Given the description of an element on the screen output the (x, y) to click on. 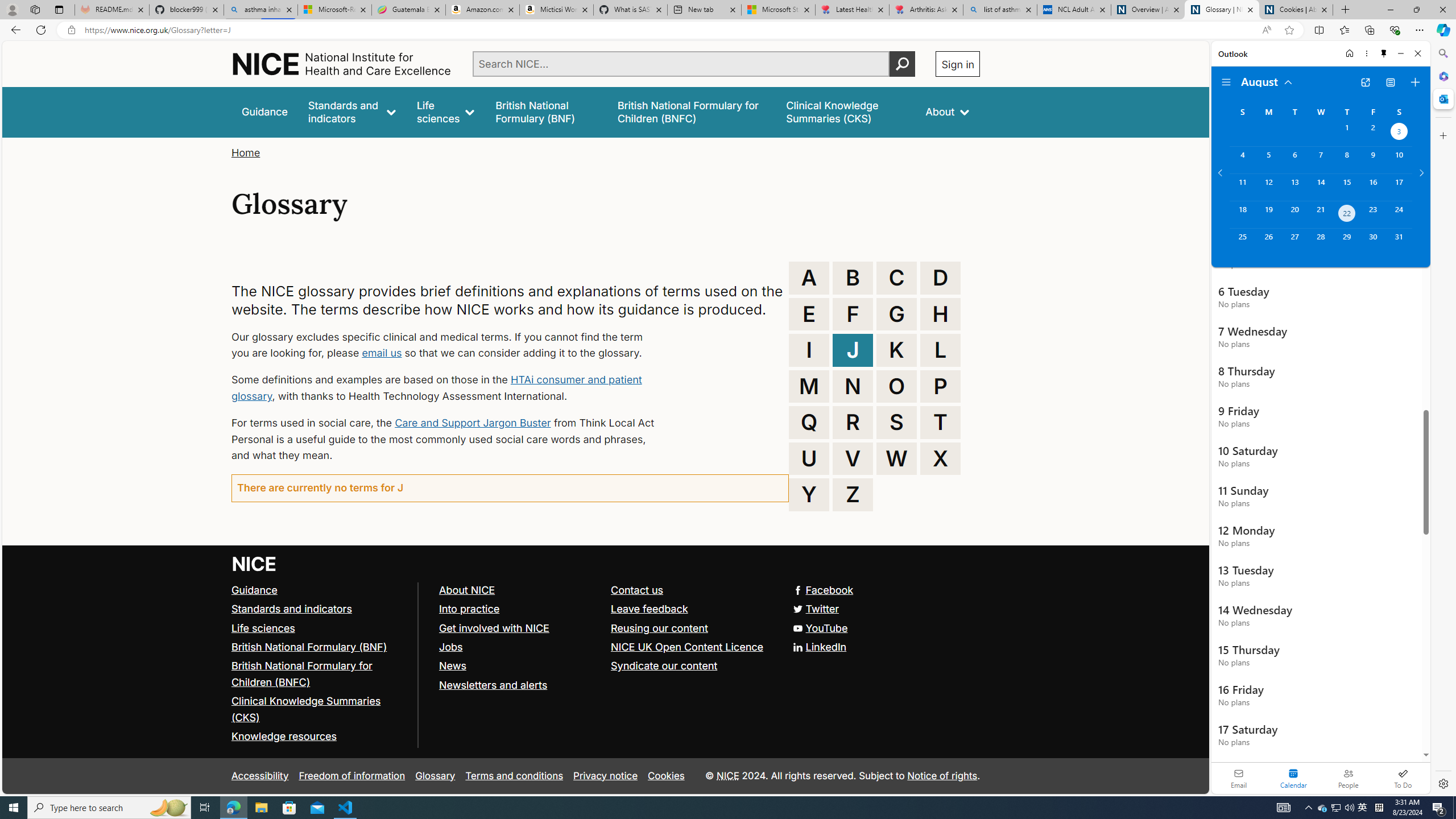
Friday, August 23, 2024.  (1372, 214)
Thursday, August 22, 2024. Today.  (1346, 214)
Monday, August 19, 2024.  (1268, 214)
F (852, 313)
NICE UK Open Content Licence (692, 647)
L (940, 350)
Go to NICE home page (253, 563)
Friday, August 2, 2024.  (1372, 132)
